Given the description of an element on the screen output the (x, y) to click on. 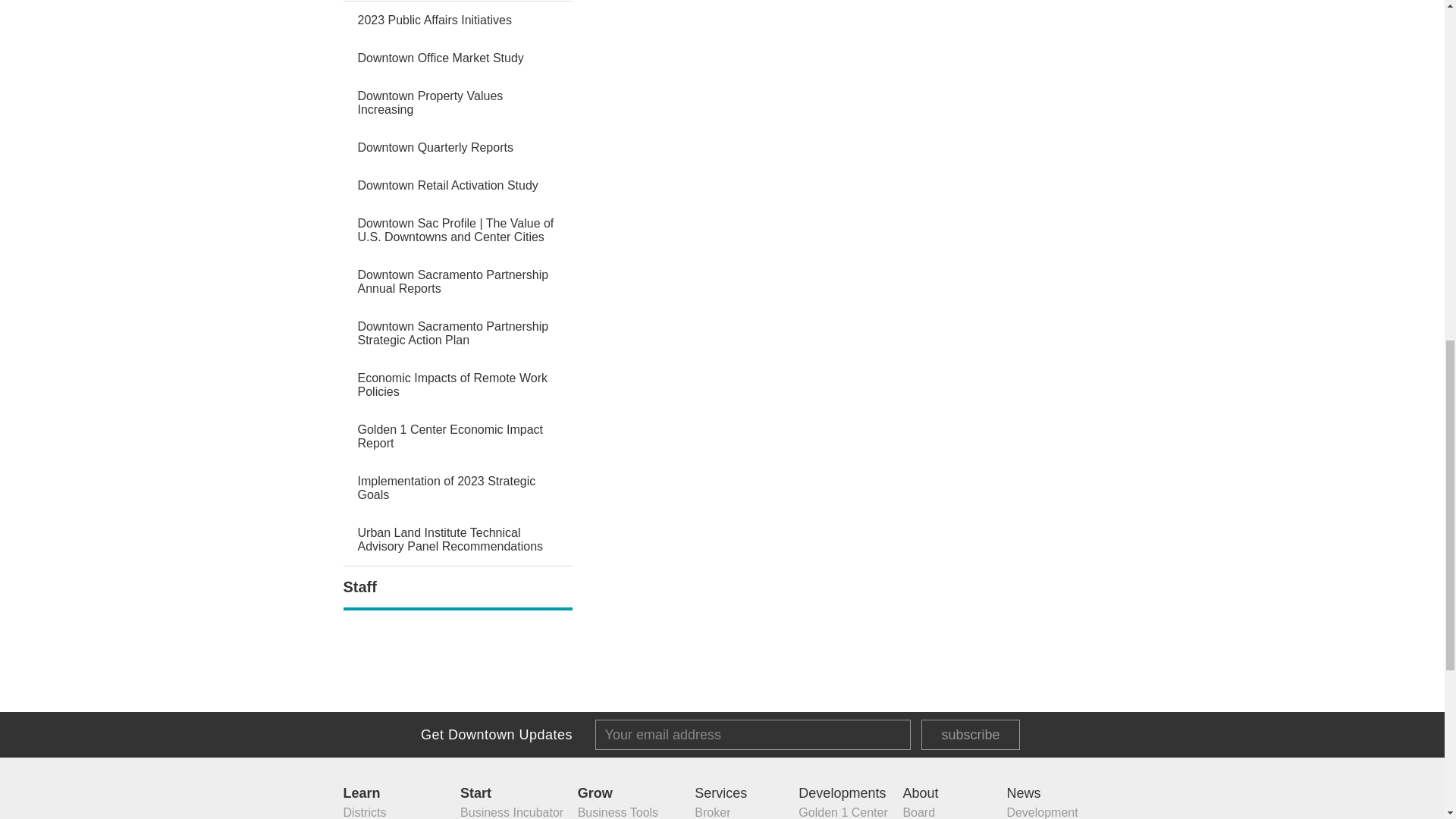
subscribe (970, 734)
